Given the description of an element on the screen output the (x, y) to click on. 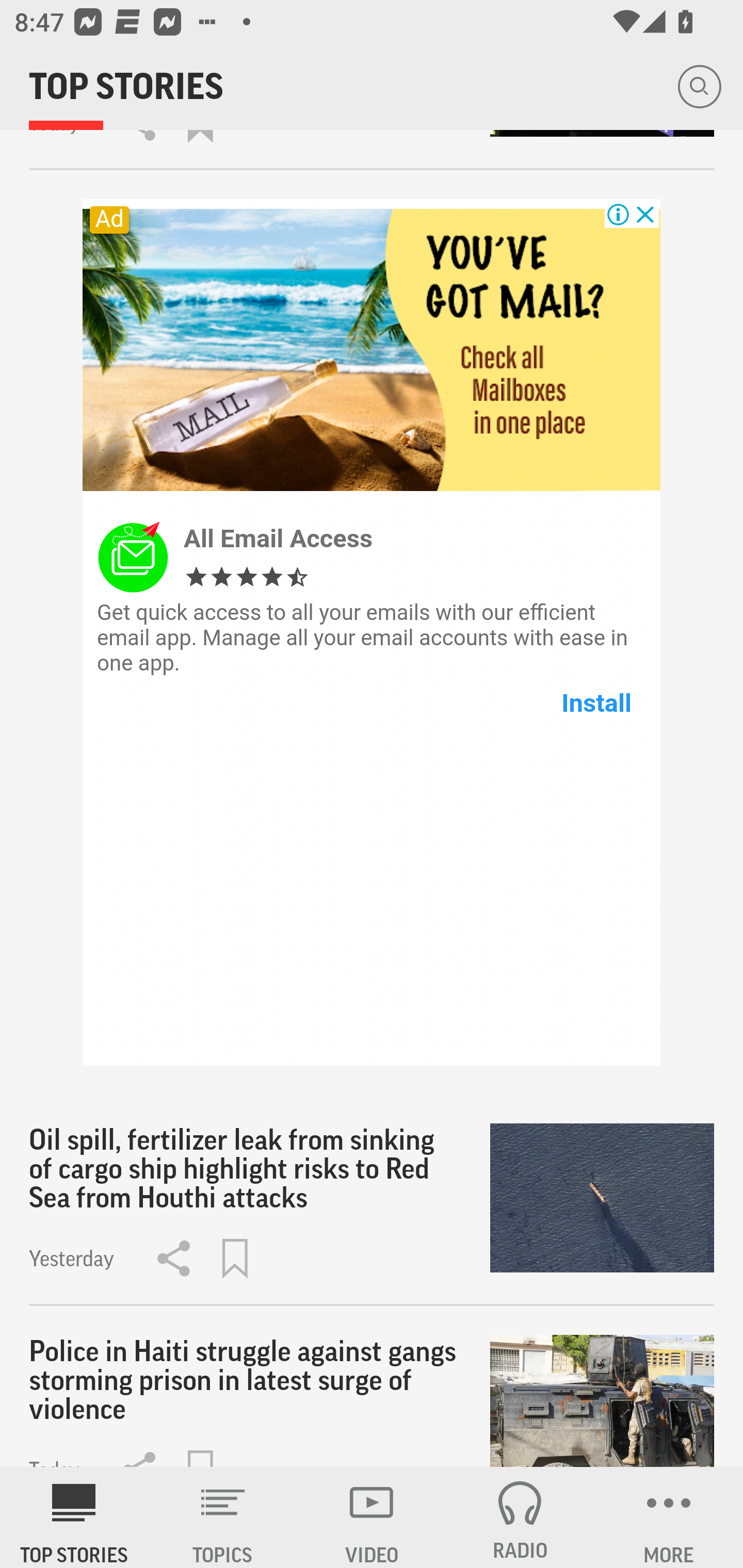
All Email Access (277, 538)
Install (595, 702)
AP News TOP STORIES (74, 1517)
TOPICS (222, 1517)
VIDEO (371, 1517)
RADIO (519, 1517)
MORE (668, 1517)
